Given the description of an element on the screen output the (x, y) to click on. 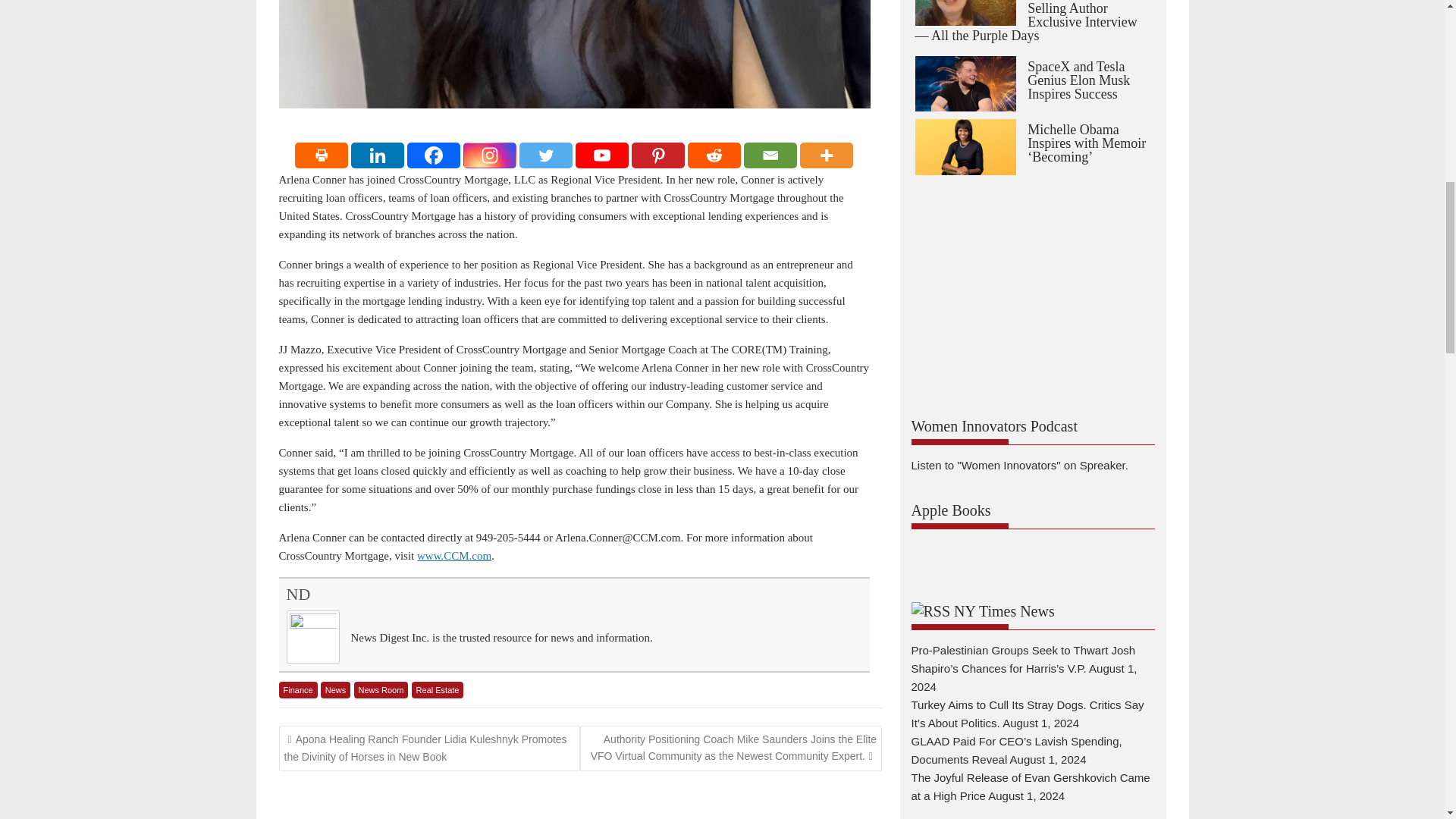
www.CCM.com (454, 555)
Instagram (489, 155)
Print (321, 155)
ND (298, 593)
Linkedin (377, 155)
Twitter (545, 155)
News (335, 689)
Reddit (714, 155)
Facebook (433, 155)
Pinterest (657, 155)
Finance (298, 689)
Youtube (601, 155)
Email (770, 155)
